Given the description of an element on the screen output the (x, y) to click on. 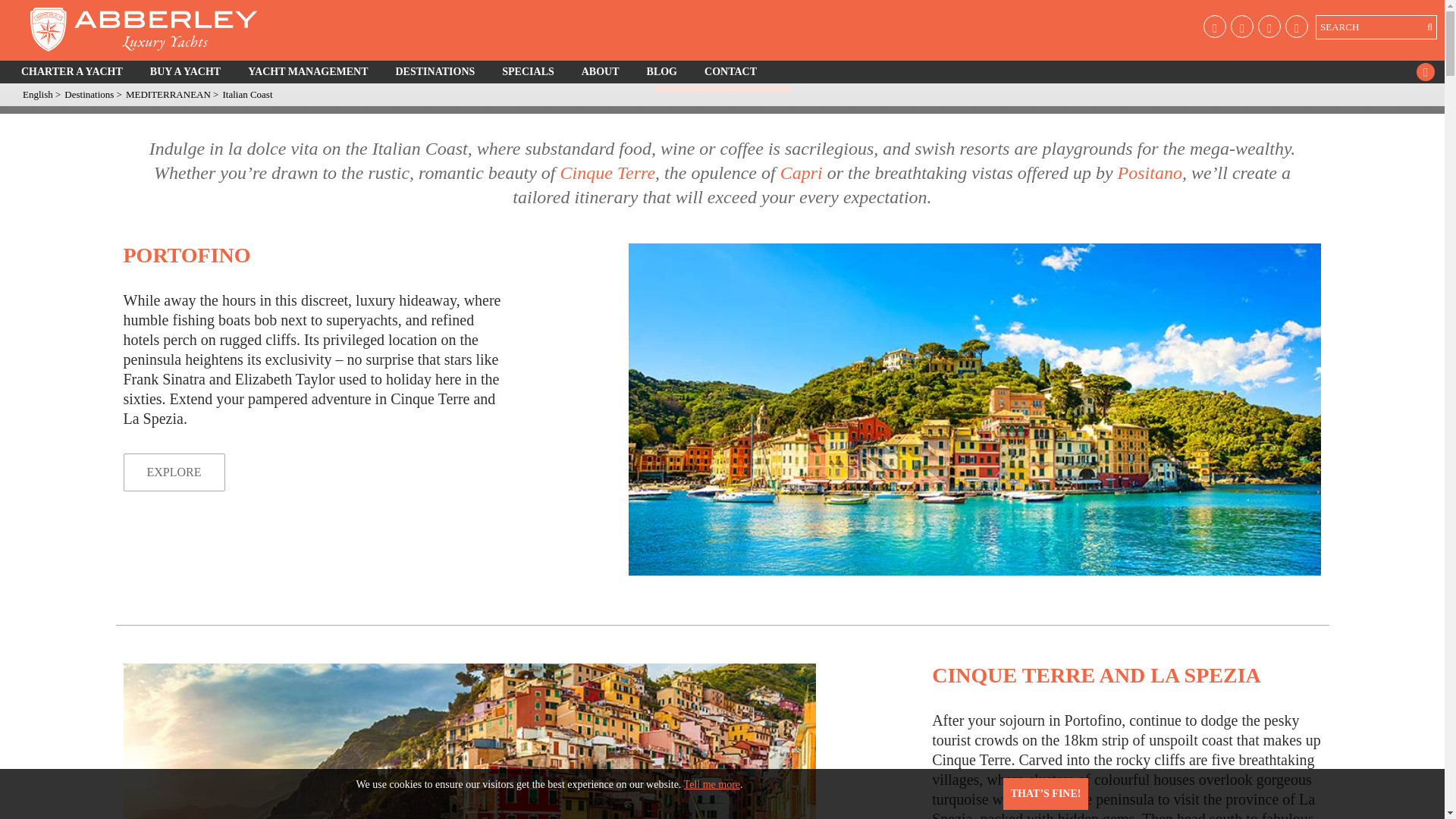
DESTINATIONS (435, 71)
SPECIALS (527, 71)
YACHT MANAGEMENT (307, 71)
CHARTER A YACHT (71, 71)
BUY A YACHT (185, 71)
SEARCH (1376, 27)
